Given the description of an element on the screen output the (x, y) to click on. 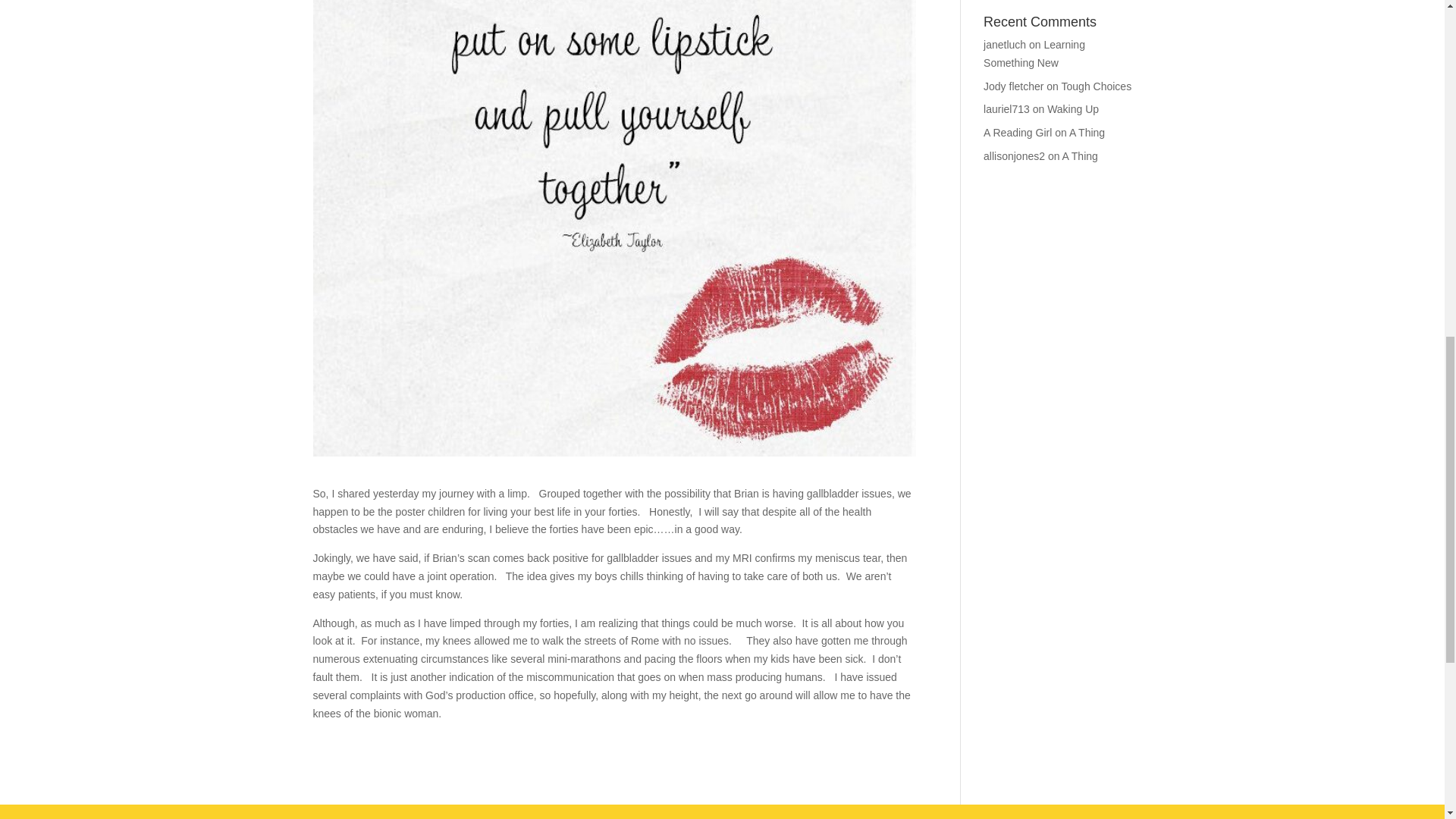
Waking Up (1072, 109)
A Thing (1086, 132)
Learning Something New (1034, 53)
lauriel713 (1006, 109)
A Thing (1079, 155)
allisonjones2 (1014, 155)
Tough Choices (1096, 86)
A Reading Girl (1017, 132)
